Given the description of an element on the screen output the (x, y) to click on. 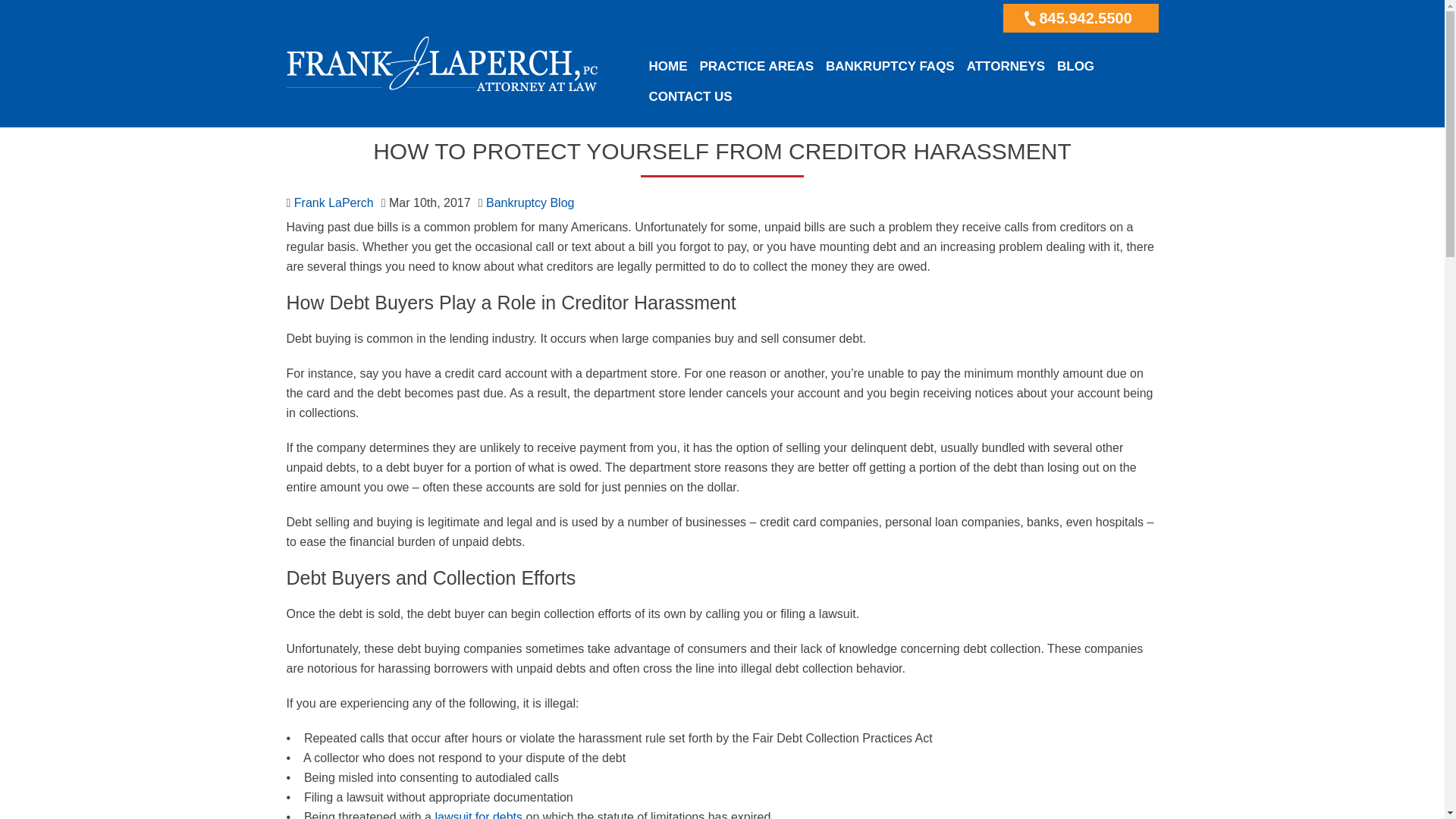
lawsuit for debts (477, 814)
Blog (1075, 65)
Contact Us (690, 96)
Attorneys (1005, 64)
Frank LaPerch (441, 73)
Bankruptcy Blog (530, 202)
Home (668, 56)
Practice Areas (756, 60)
Bankruptcy FAQs (889, 61)
Frank LaPerch (334, 202)
